Given the description of an element on the screen output the (x, y) to click on. 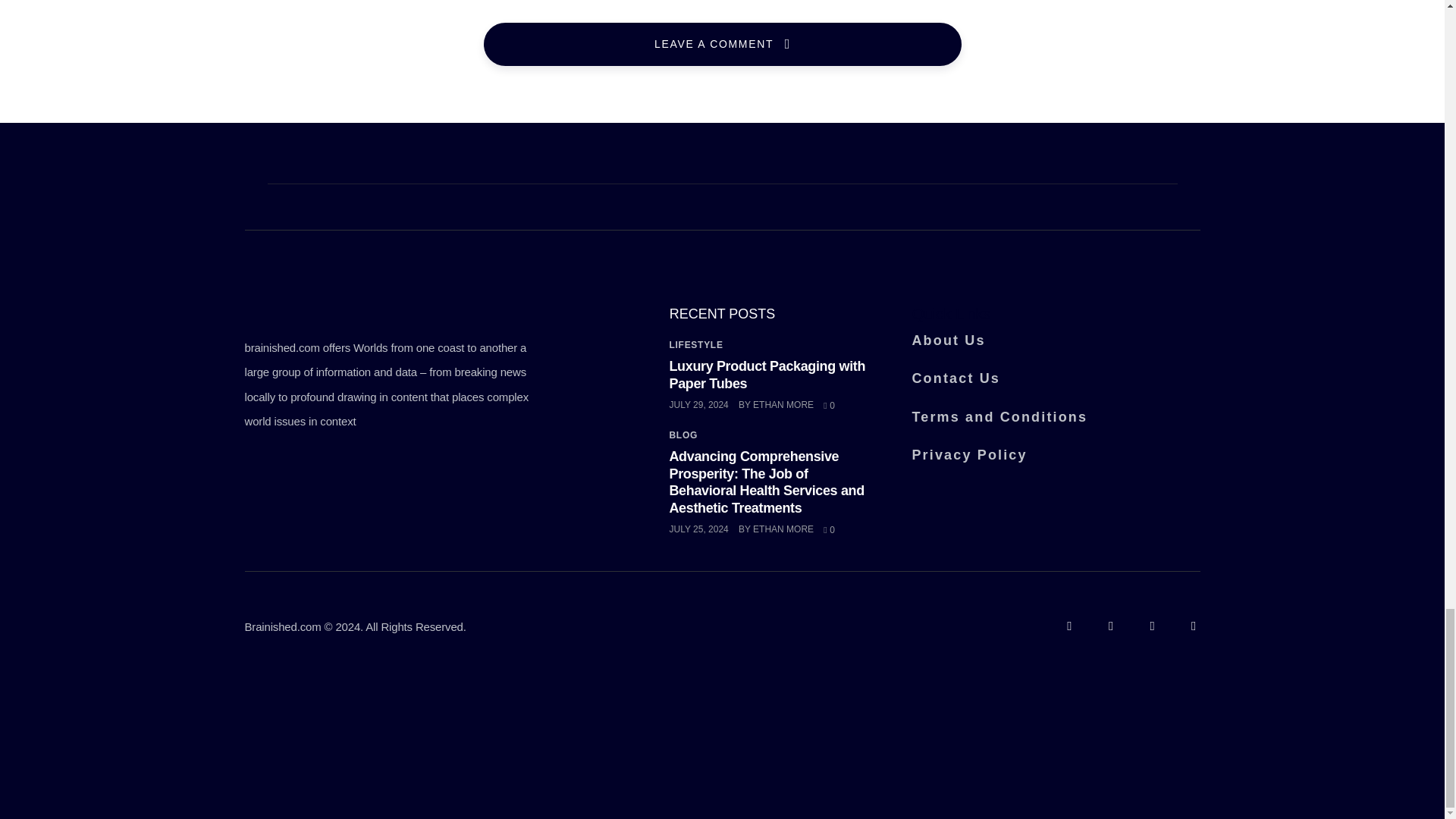
View all posts in blog (682, 434)
View all posts in Lifestyle (695, 344)
